Given the description of an element on the screen output the (x, y) to click on. 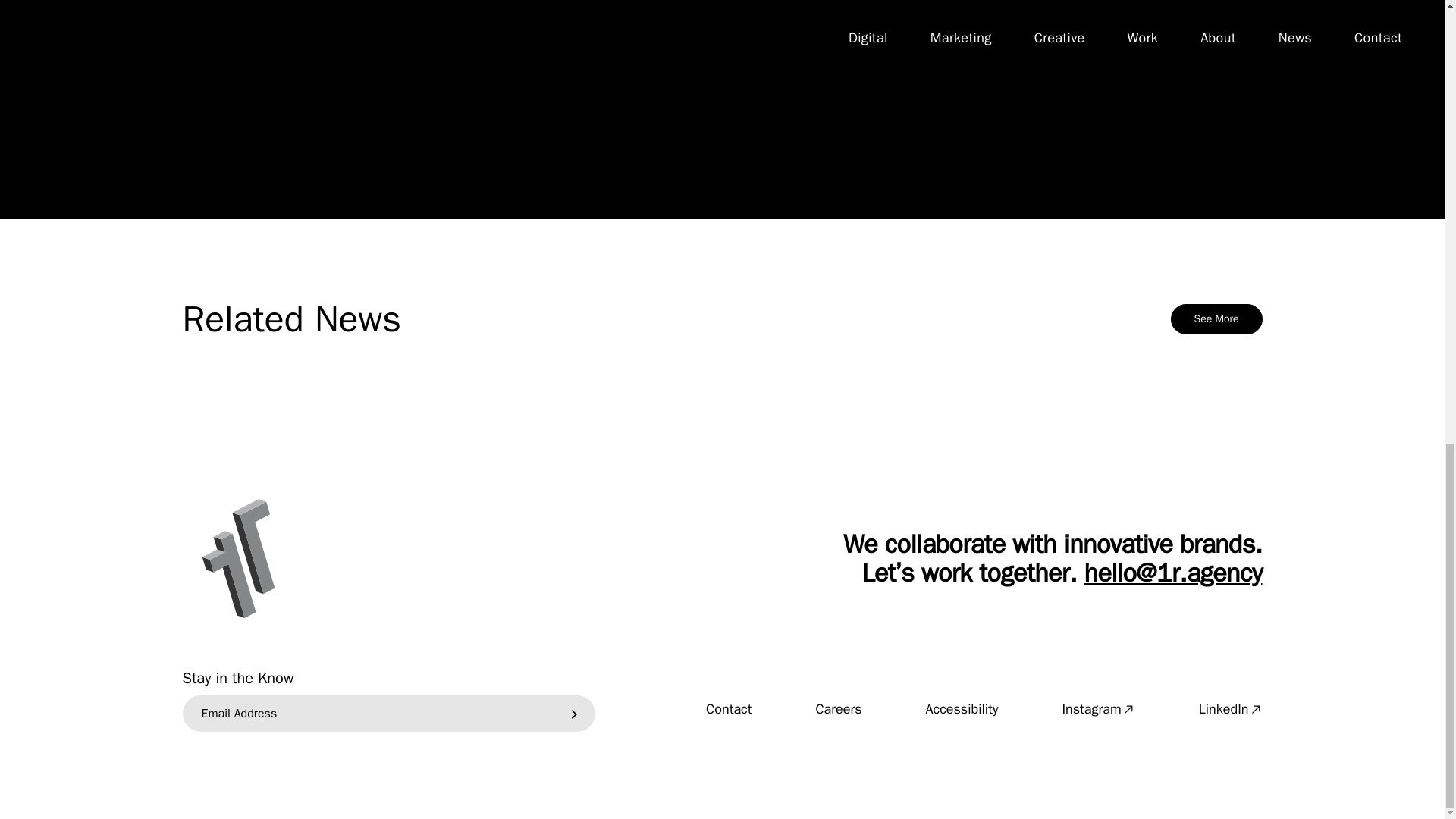
LinkedIn (1230, 709)
Careers (838, 709)
See More (1216, 318)
Contact (728, 709)
Instagram (1097, 709)
Accessibility (960, 709)
